Given the description of an element on the screen output the (x, y) to click on. 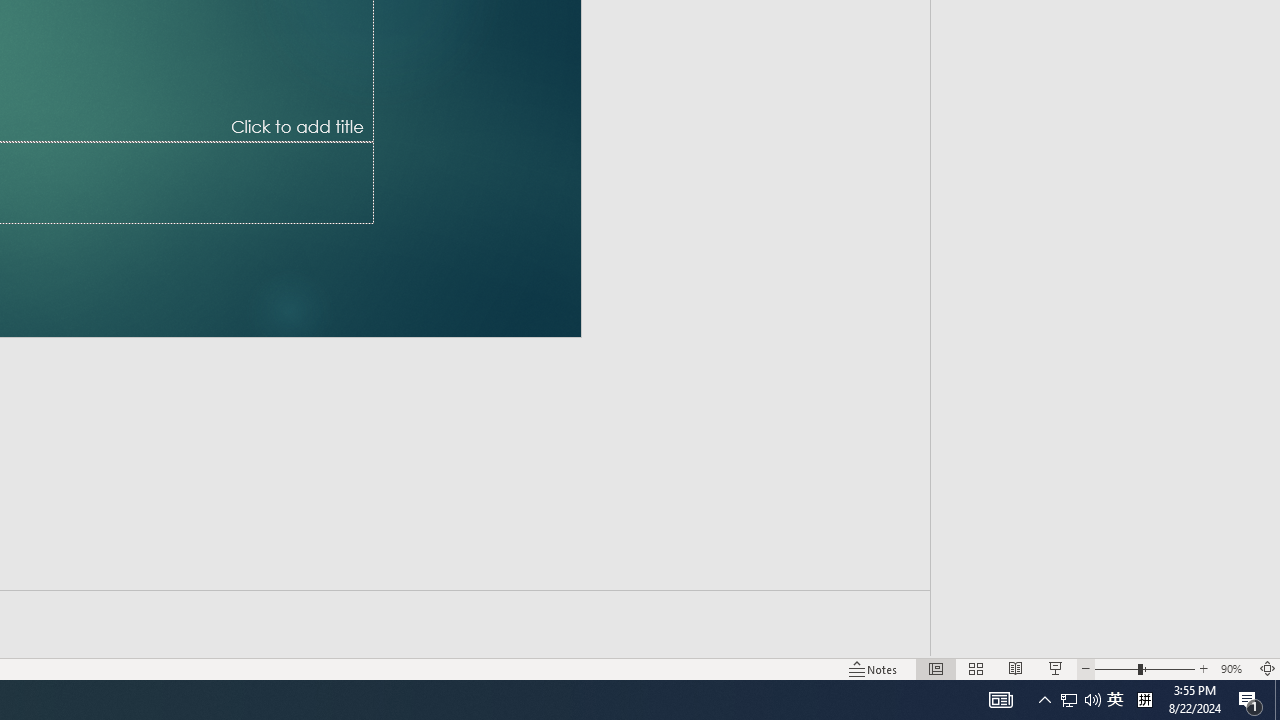
Zoom 90% (1234, 668)
